Given the description of an element on the screen output the (x, y) to click on. 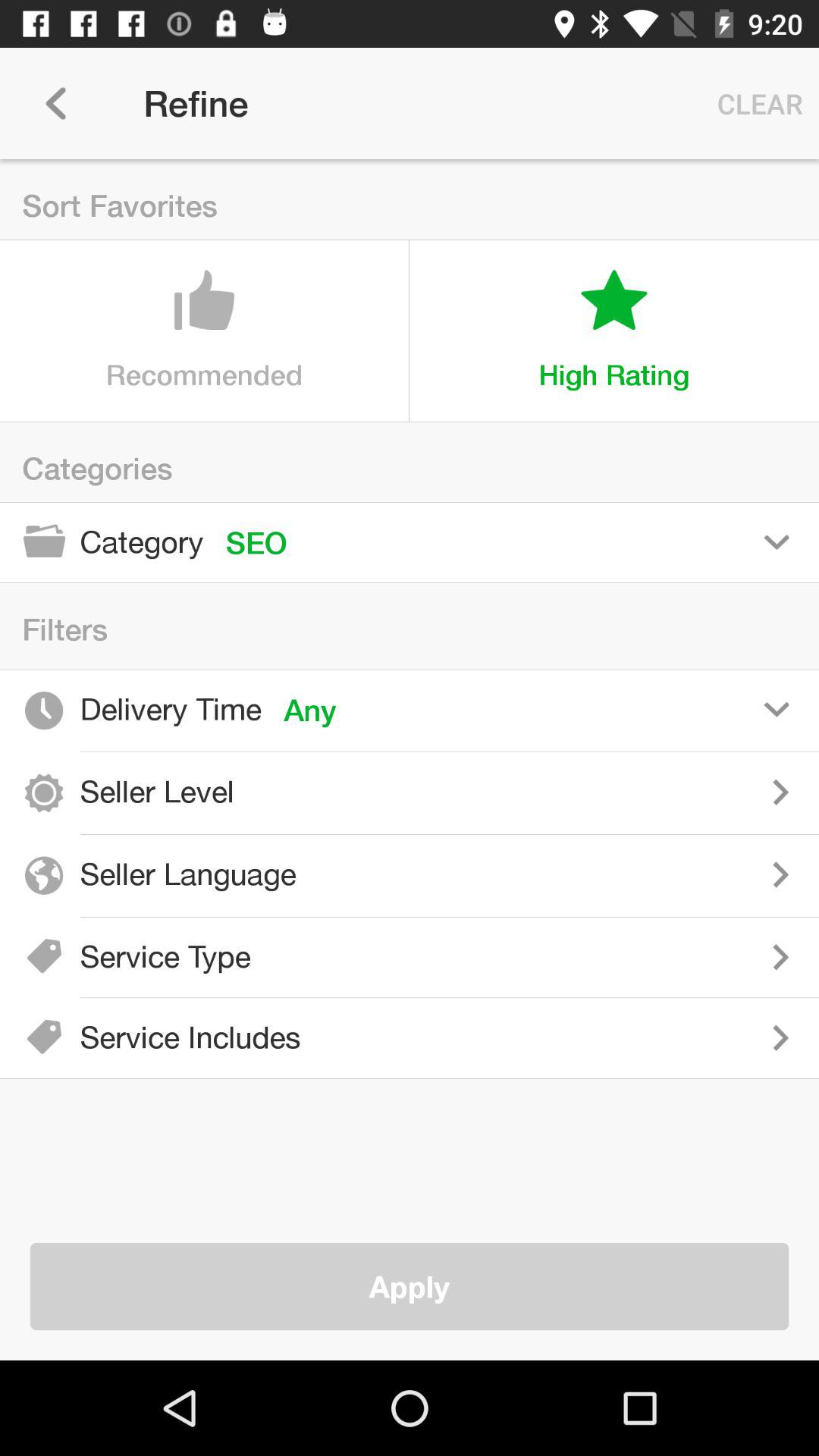
launch item to the left of the refine item (55, 103)
